Given the description of an element on the screen output the (x, y) to click on. 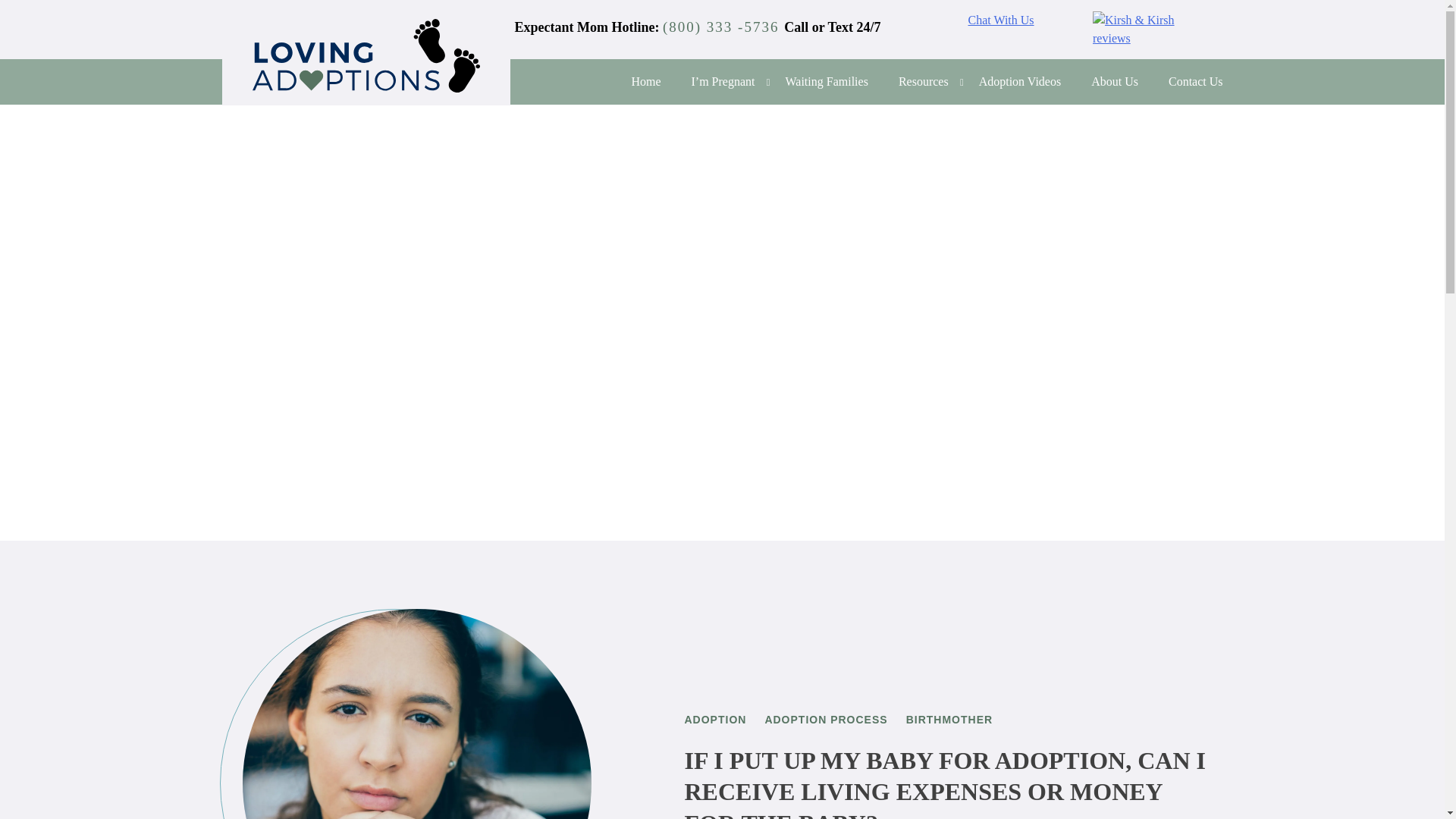
ADOPTION PROCESS (825, 719)
BIRTHMOTHER (948, 719)
Resources (923, 81)
Waiting Families (826, 81)
ADOPTION (714, 719)
Adoption Videos (1019, 81)
Contact Us (1196, 81)
About Us (1114, 81)
Chat With Us (1000, 19)
